Given the description of an element on the screen output the (x, y) to click on. 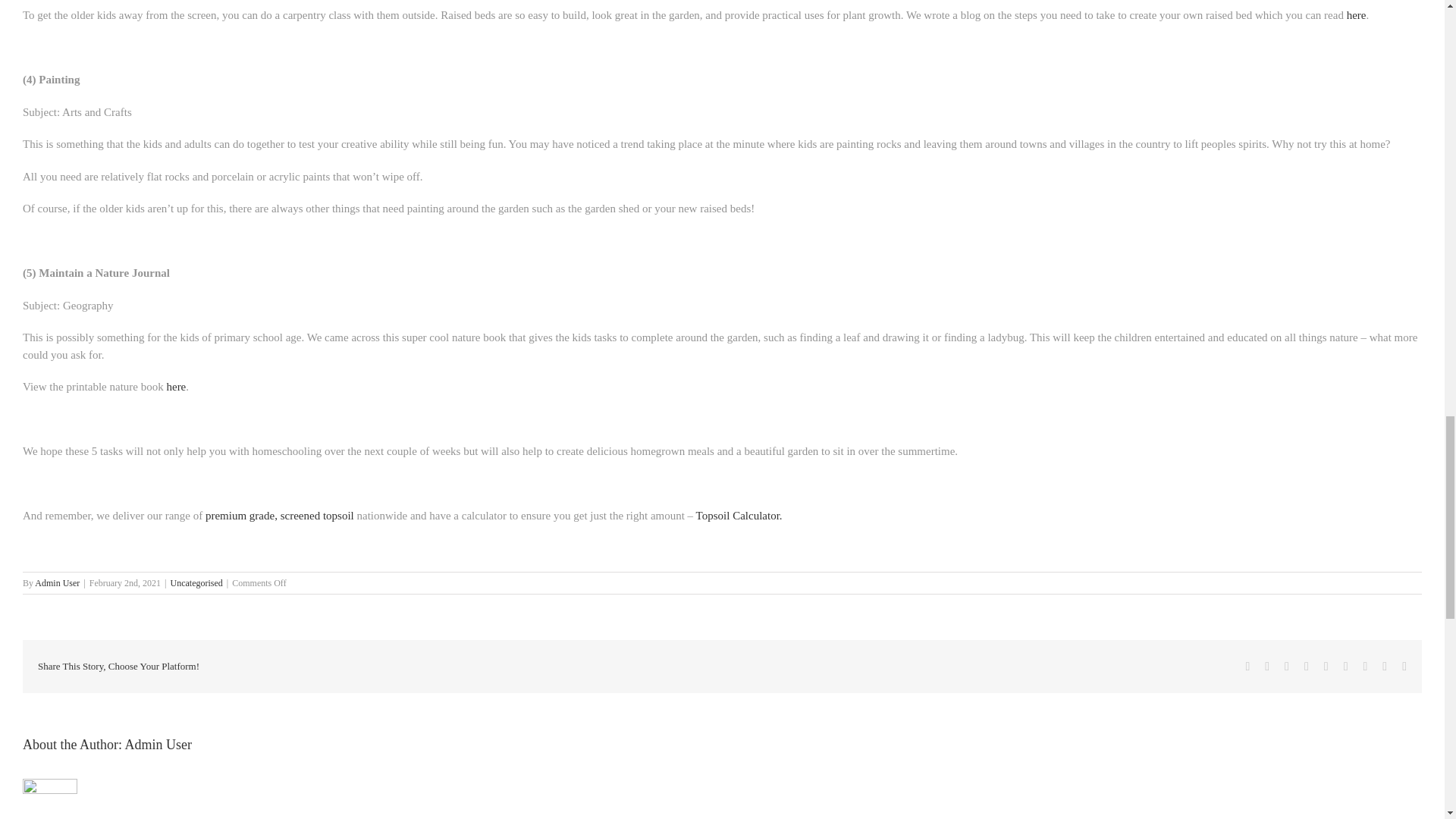
Admin User (57, 583)
premium grade, screened topsoil (279, 515)
Topsoil Calculator. (739, 515)
Posts by Admin User (57, 583)
Uncategorised (196, 583)
Posts by Admin User (157, 744)
here (175, 386)
here (1356, 15)
